Given the description of an element on the screen output the (x, y) to click on. 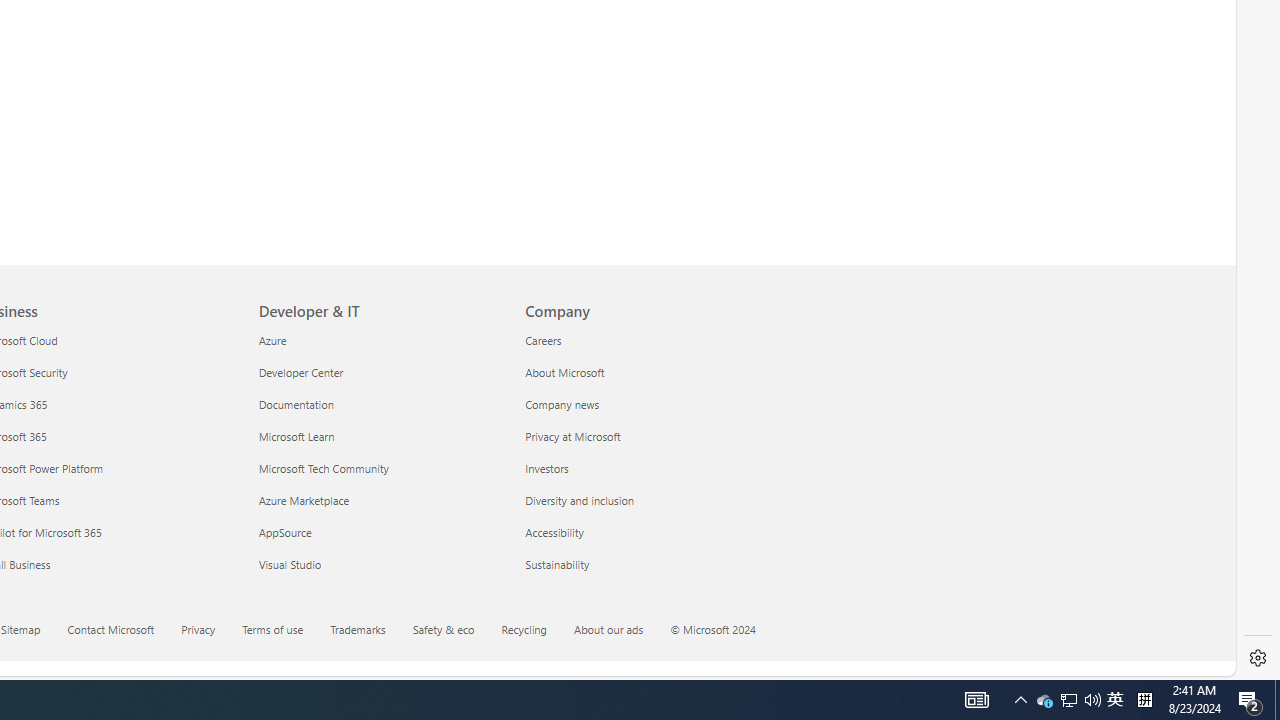
Microsoft Tech Community (379, 468)
Privacy at Microsoft Company (572, 435)
Visual Studio Developer & IT (290, 563)
Recycling (523, 628)
